Given the description of an element on the screen output the (x, y) to click on. 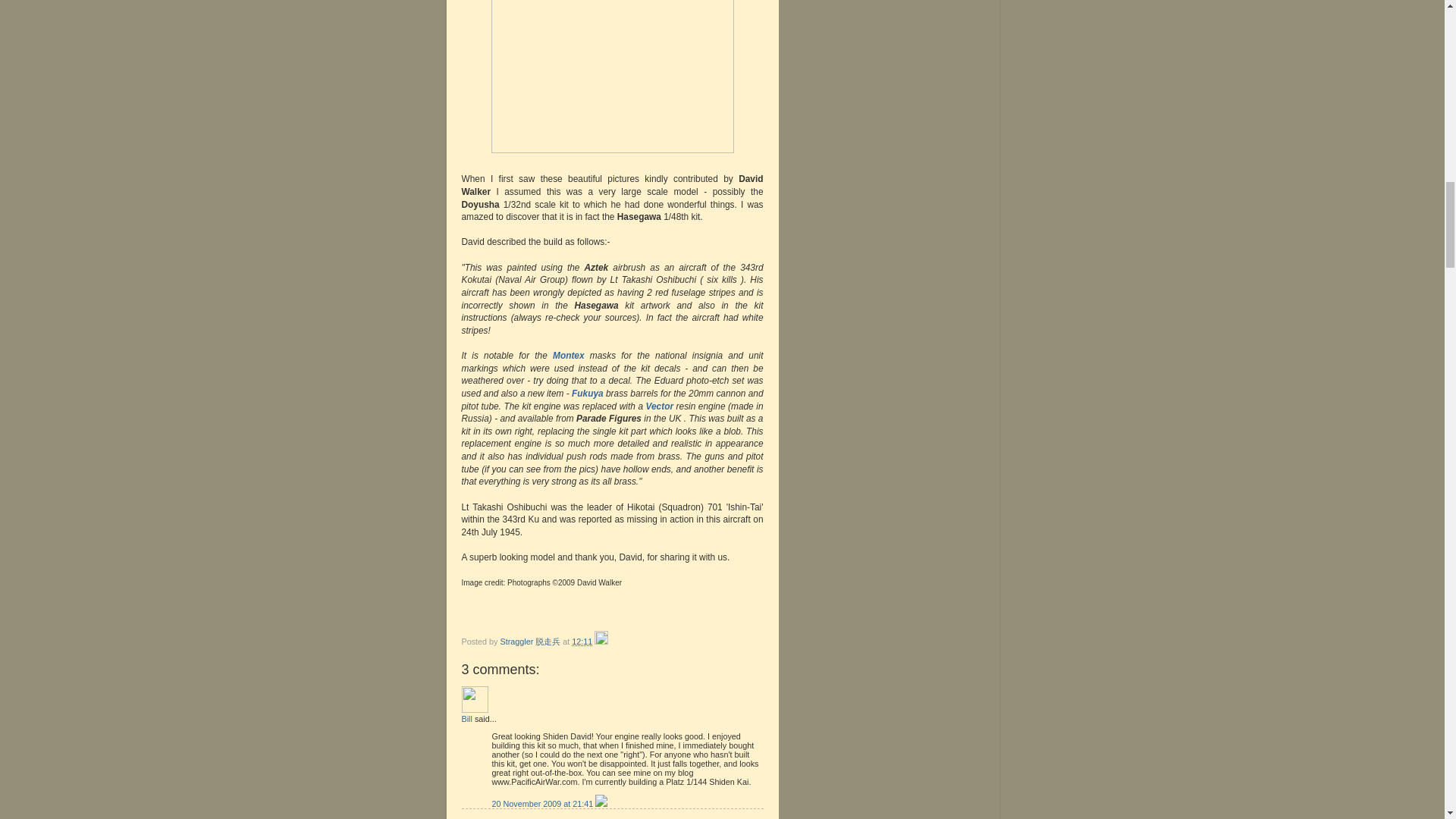
permanent link (582, 641)
Edit Post (601, 641)
12:11 (582, 641)
author profile (531, 641)
Bill (474, 699)
Delete Comment (601, 803)
comment permalink (543, 803)
20 November 2009 at 21:41 (543, 803)
Vector (660, 406)
Bill (466, 718)
Montex (569, 355)
Fukuya (588, 393)
